Given the description of an element on the screen output the (x, y) to click on. 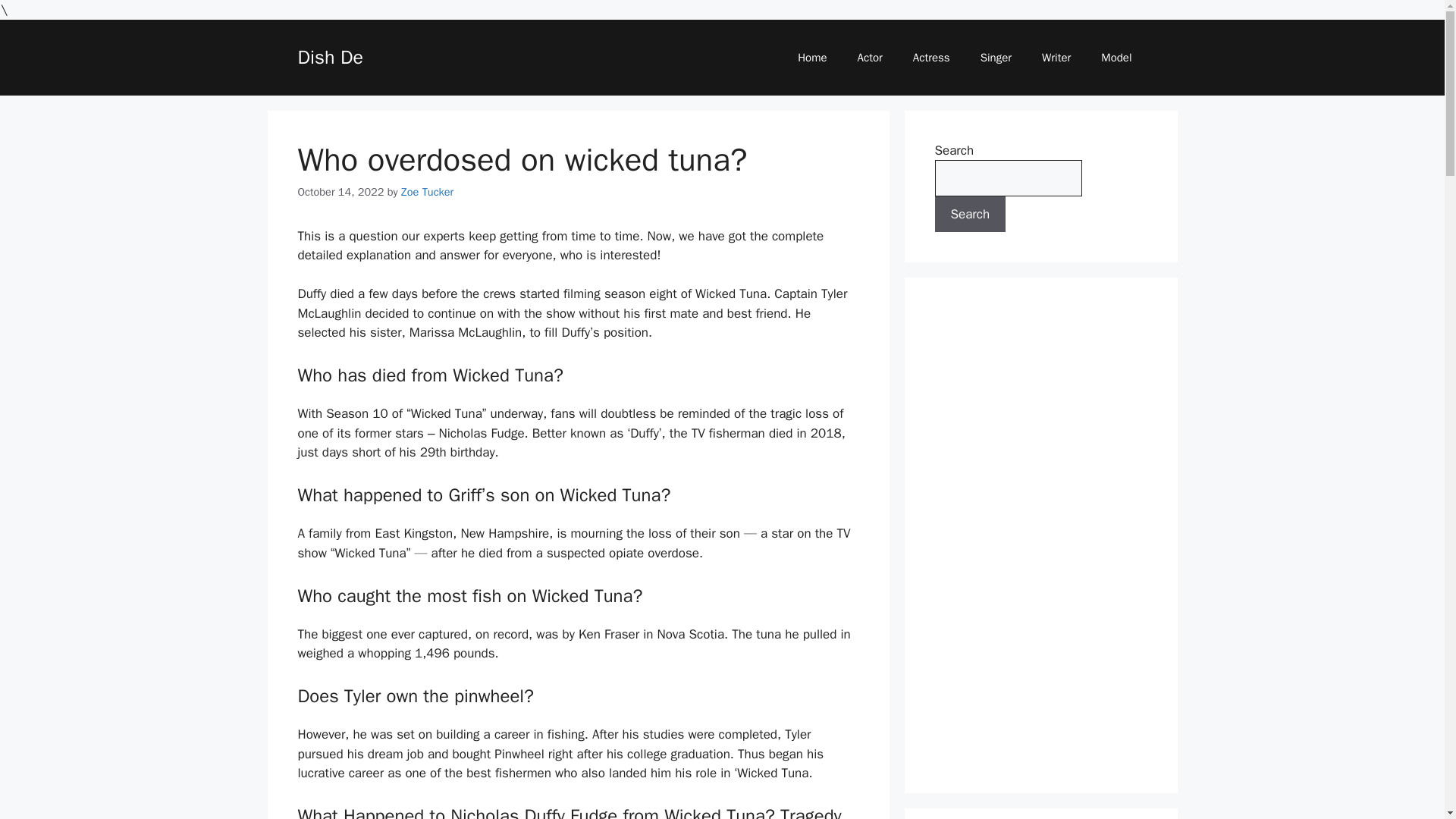
Search (970, 213)
Model (1116, 57)
Writer (1056, 57)
View all posts by Zoe Tucker (426, 192)
Zoe Tucker (426, 192)
Home (812, 57)
Actress (931, 57)
Singer (995, 57)
Actor (870, 57)
Dish De (329, 56)
